Given the description of an element on the screen output the (x, y) to click on. 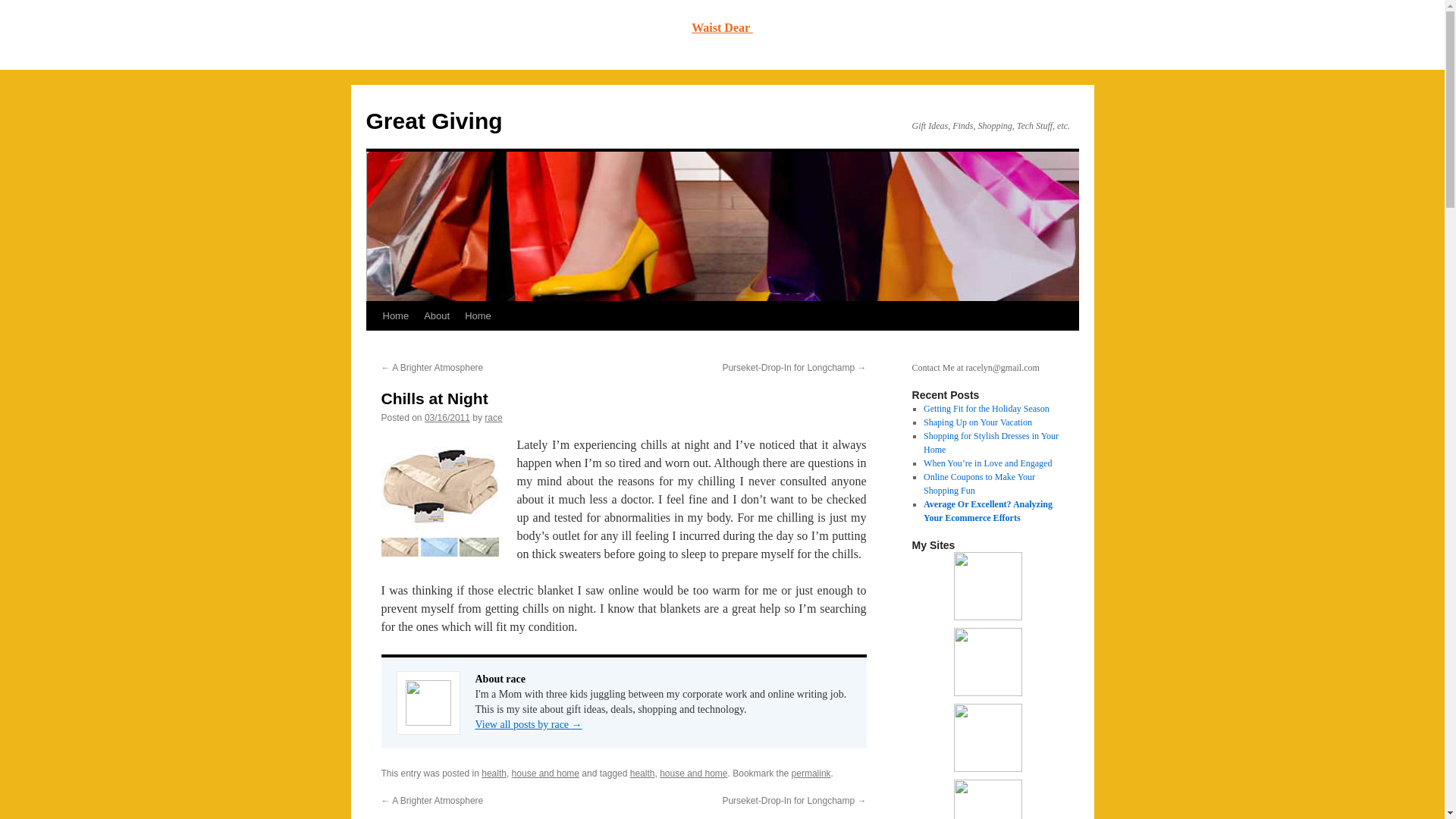
permalink (811, 773)
race (493, 417)
Waist Dear  (721, 27)
Home (395, 316)
Shopping for Stylish Dresses in Your Home (990, 442)
Great Giving (433, 120)
health (642, 773)
house and home (692, 773)
Shaping Up on Your Vacation (977, 421)
01:49 (447, 417)
